Given the description of an element on the screen output the (x, y) to click on. 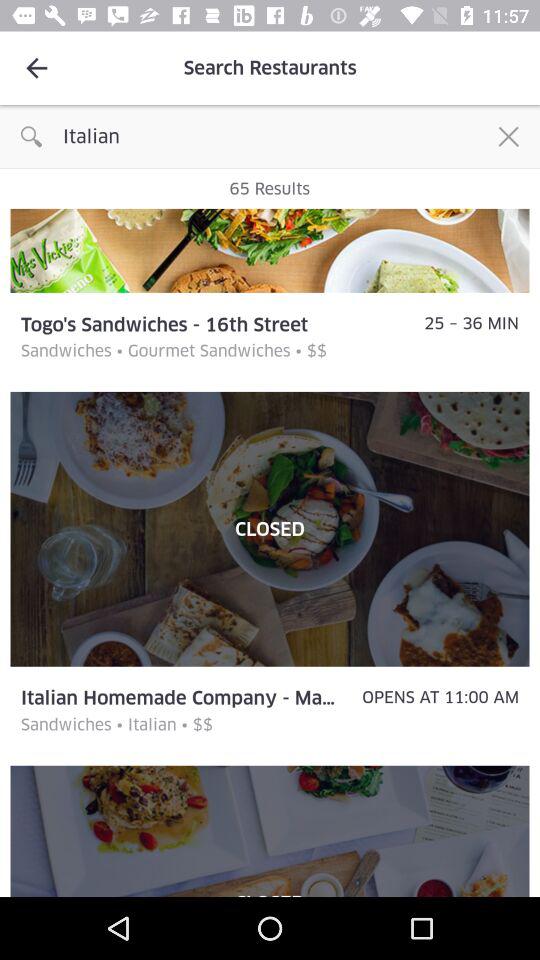
press the item next to search restaurants item (36, 68)
